Given the description of an element on the screen output the (x, y) to click on. 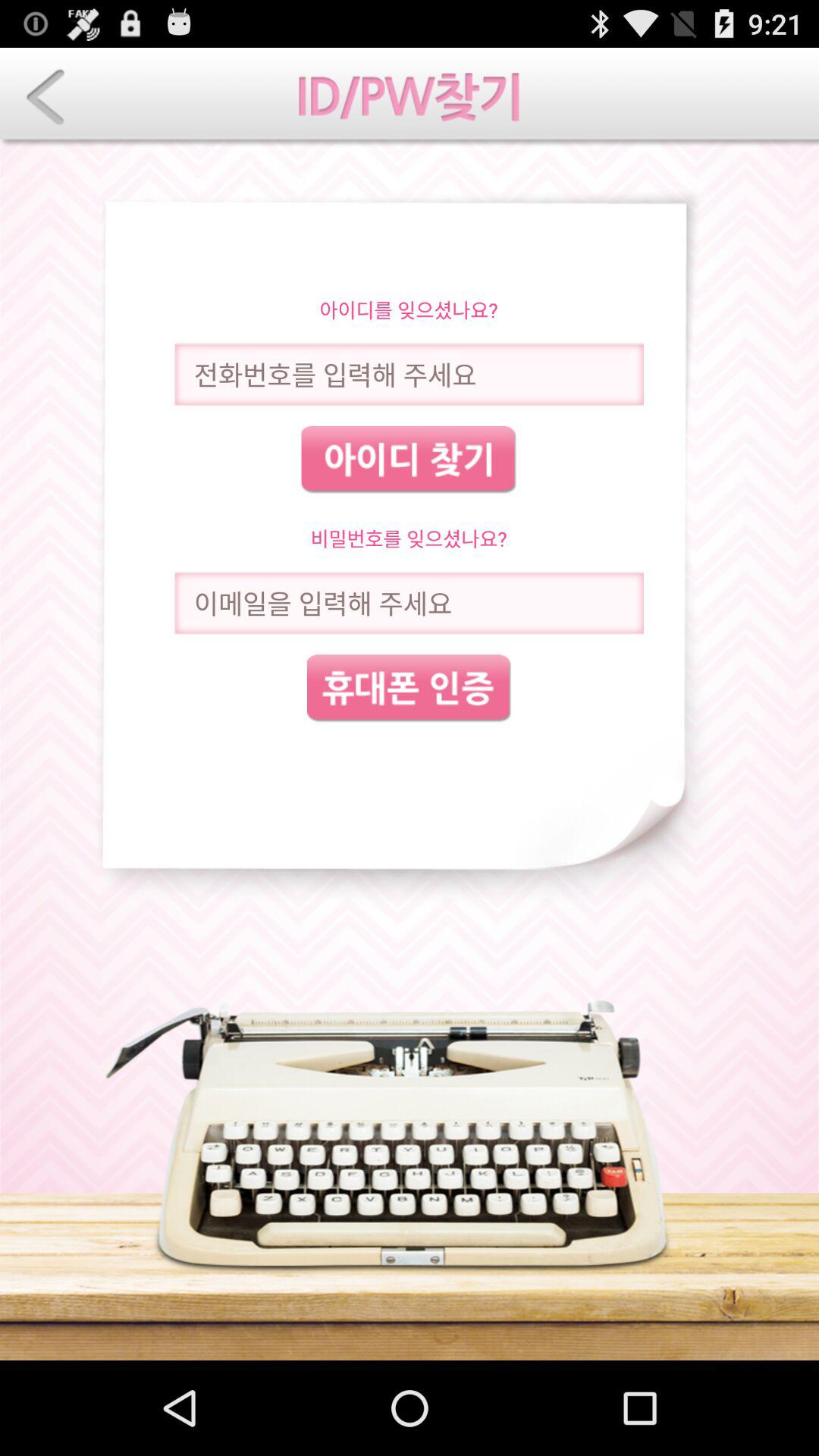
page back (45, 96)
